Given the description of an element on the screen output the (x, y) to click on. 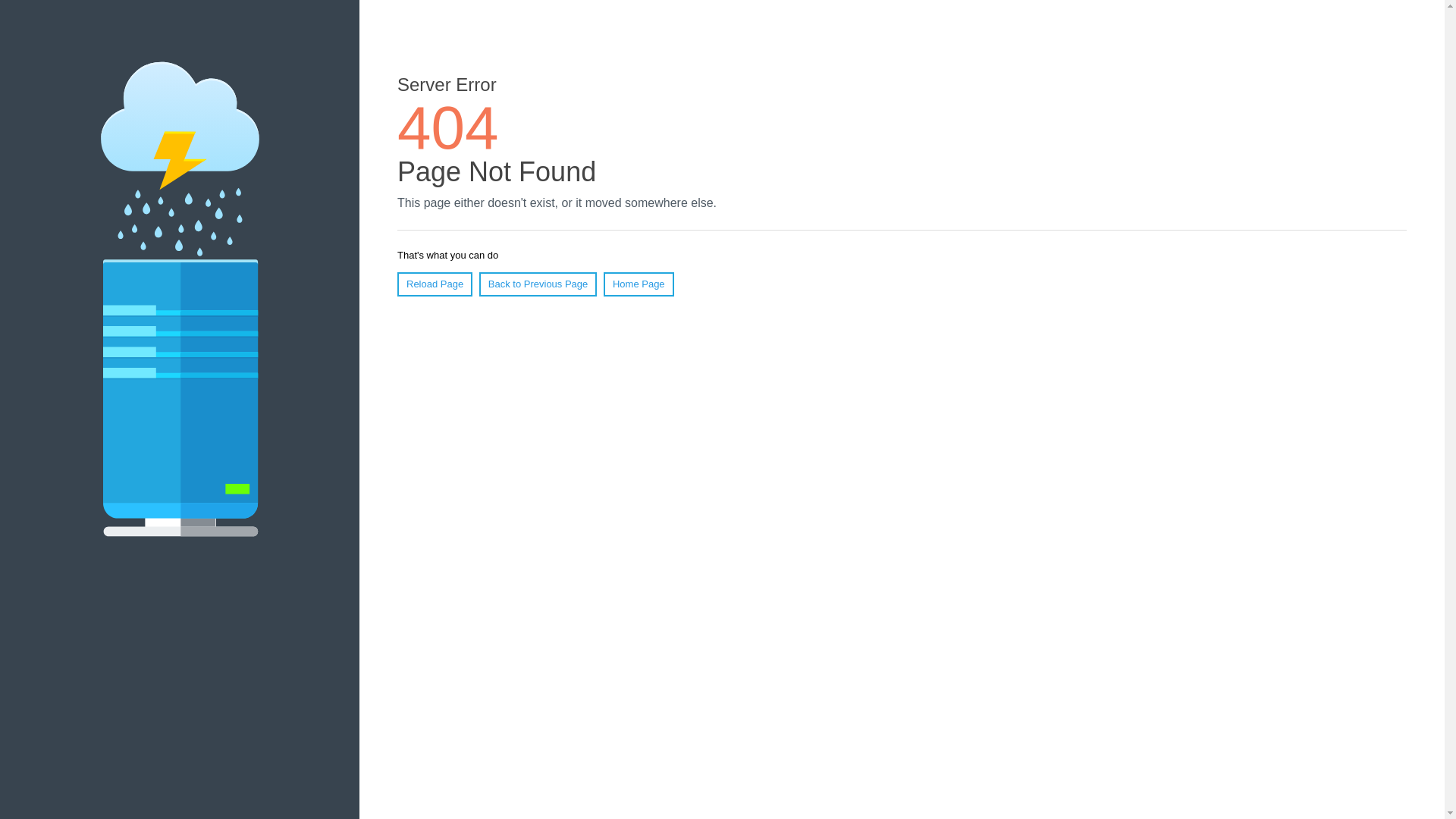
Home Page Element type: text (638, 284)
Back to Previous Page Element type: text (538, 284)
Reload Page Element type: text (434, 284)
